Given the description of an element on the screen output the (x, y) to click on. 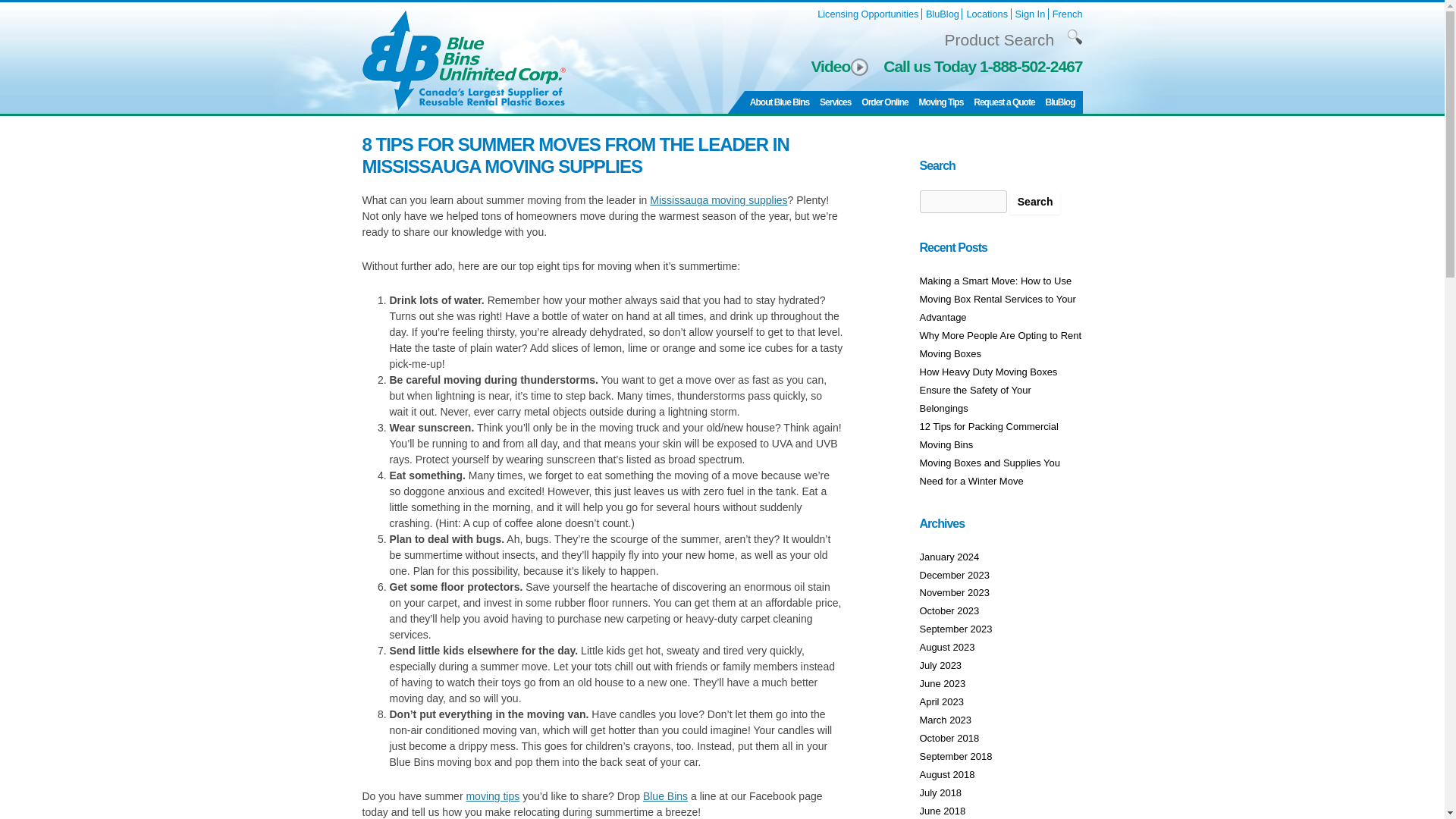
Sign In (1029, 13)
French (1067, 13)
About Blue Bins (779, 101)
Licensing Opportunities (867, 13)
Video (838, 67)
BluBlog (942, 13)
Blue Bins Helps You Make Your Move! (834, 101)
Services (834, 101)
Search (1035, 202)
1-888-502-2467 (1030, 66)
Locations (986, 13)
